Given the description of an element on the screen output the (x, y) to click on. 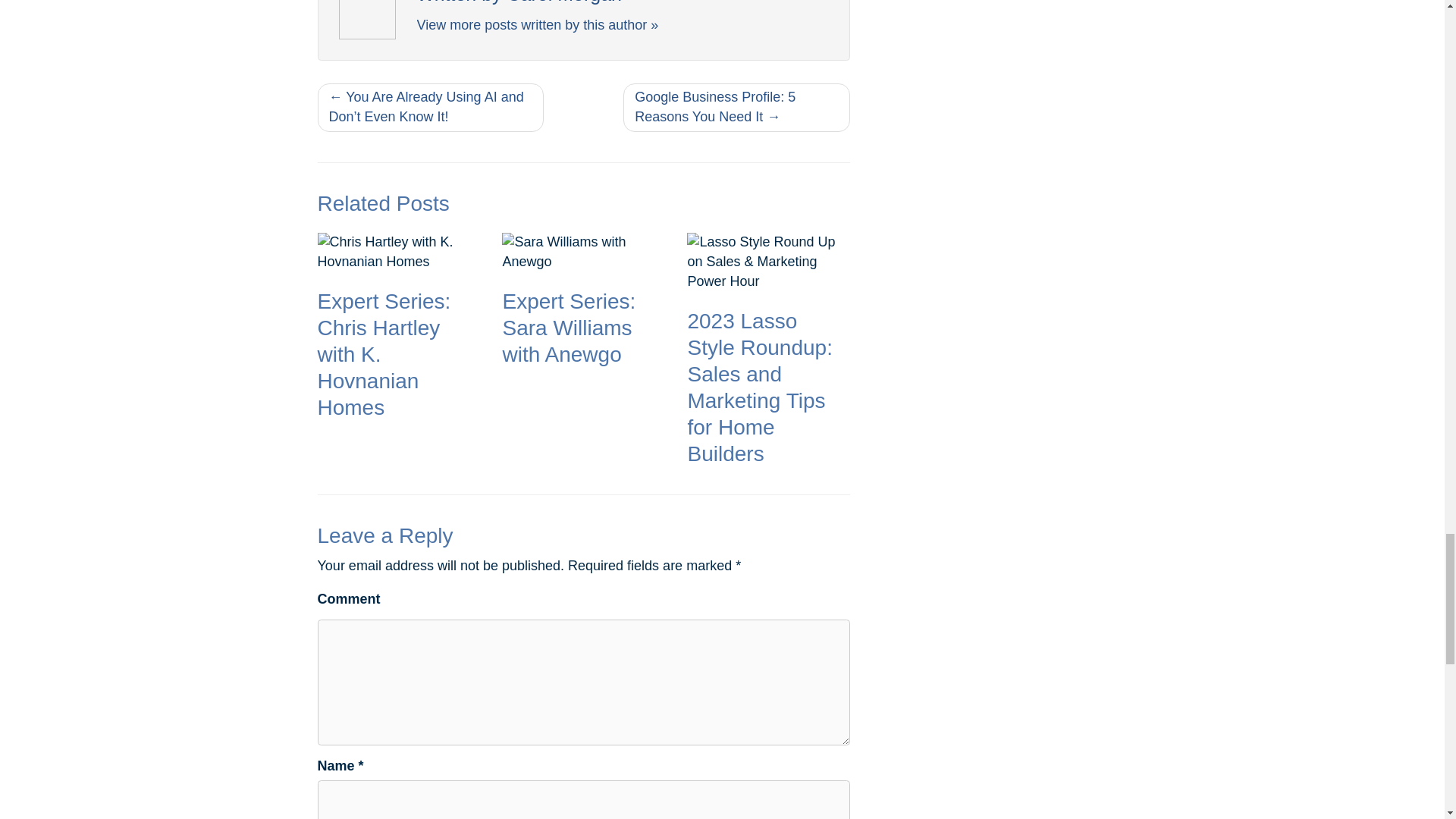
Expert Series: Chris Hartley with K. Hovnanian Homes (398, 332)
Expert Series: Sara Williams with Anewgo (582, 305)
Expert Series: Sara Williams with Anewgo (582, 305)
Expert Series: Chris Hartley with K. Hovnanian Homes (398, 332)
